Given the description of an element on the screen output the (x, y) to click on. 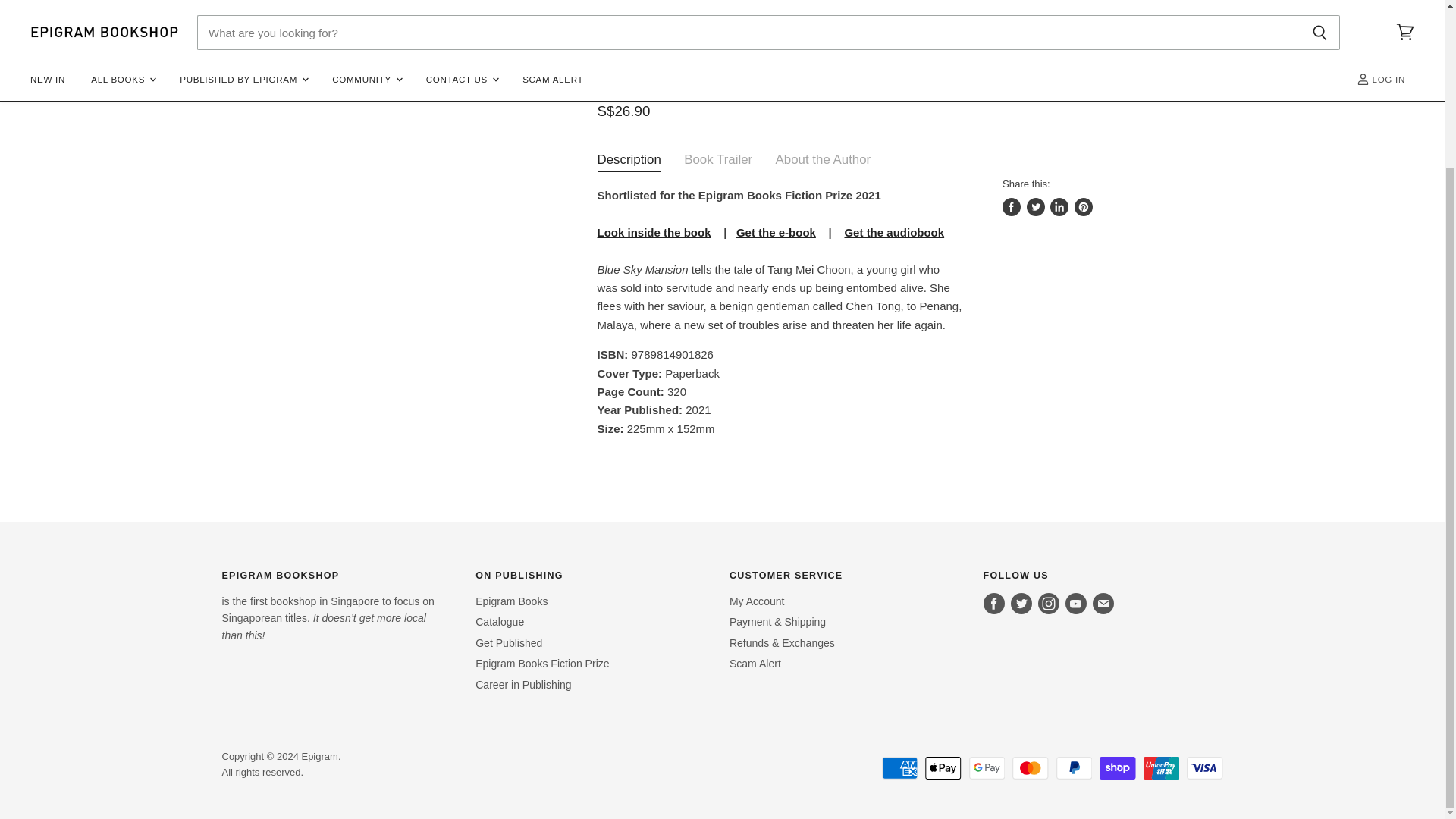
Youtube (1075, 603)
Facebook (993, 603)
Twitter (1021, 603)
Instagram (1048, 603)
E-mail (1102, 603)
